Given the description of an element on the screen output the (x, y) to click on. 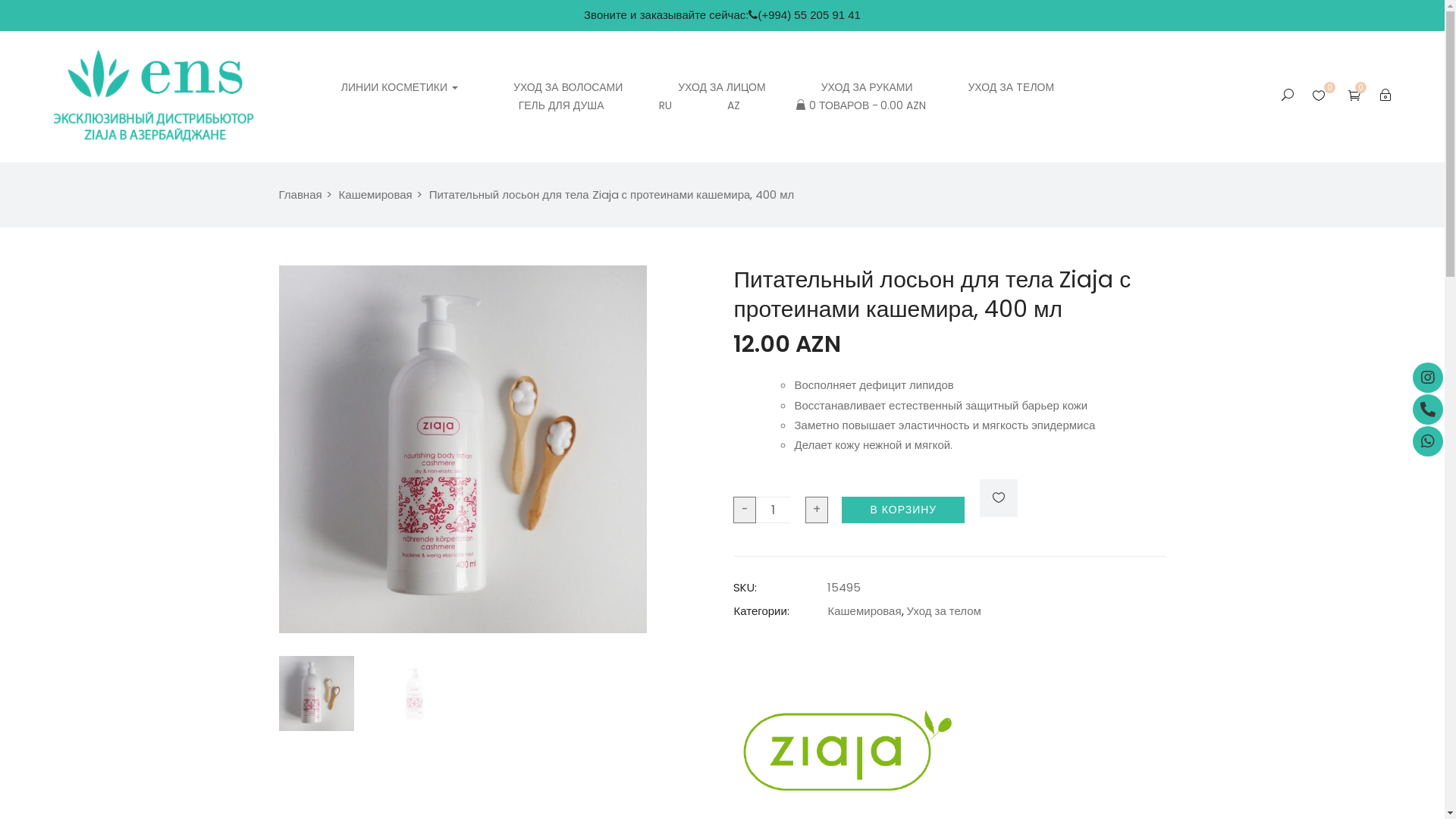
sign in Element type: text (1269, 367)
AZ Element type: text (733, 105)
0 Element type: text (1354, 94)
+ Element type: text (816, 509)
0 Element type: text (1320, 95)
Ziaja Element type: hover (846, 646)
- Element type: text (744, 509)
RU Element type: text (665, 105)
147339970_3841119572645579_3282297826481928235_n Element type: hover (462, 449)
